Given the description of an element on the screen output the (x, y) to click on. 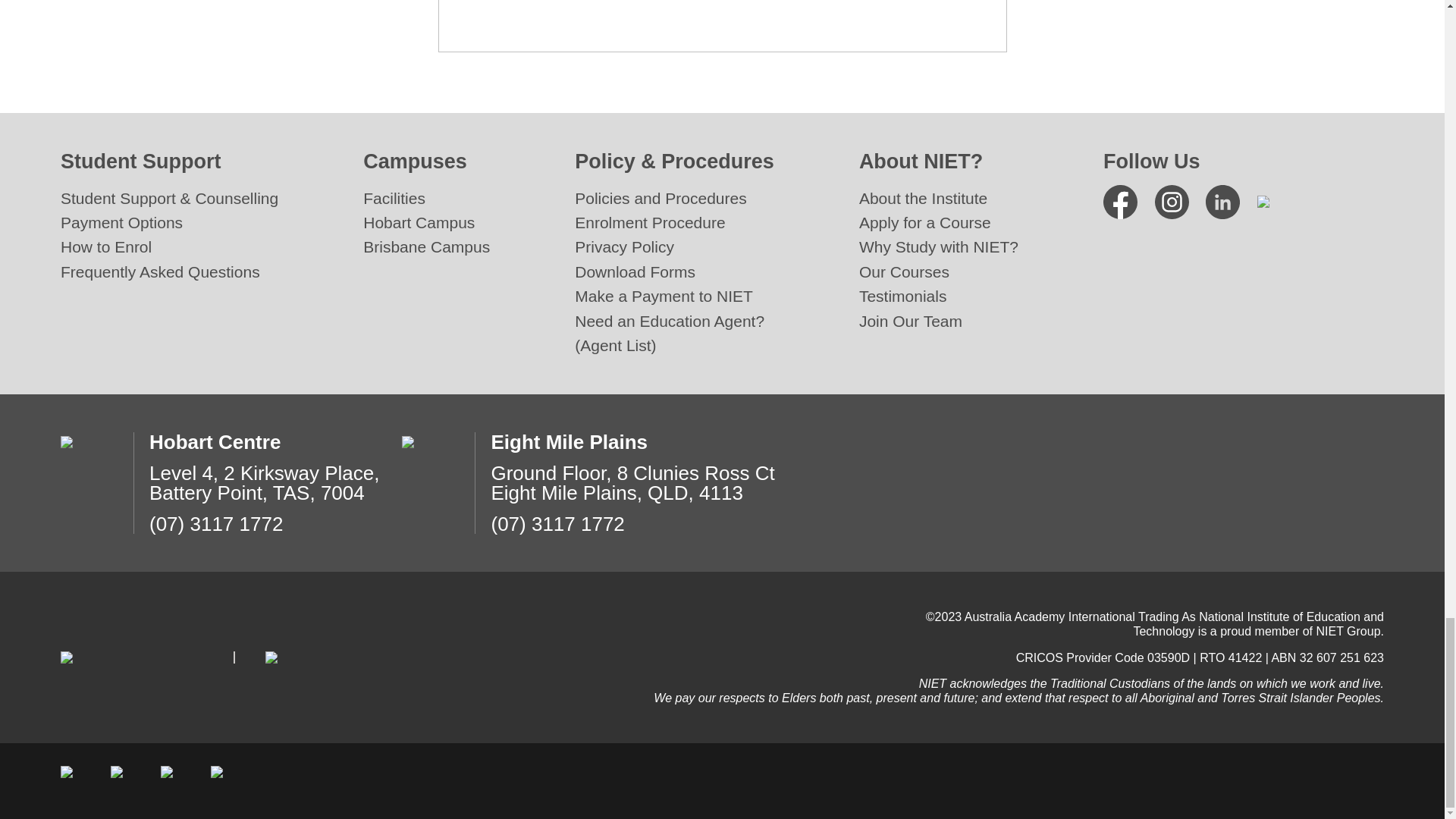
How to Enrol (106, 246)
Hobart Campus (418, 221)
Facilities (393, 198)
Payment Options (122, 221)
Frequently Asked Questions (160, 271)
